Given the description of an element on the screen output the (x, y) to click on. 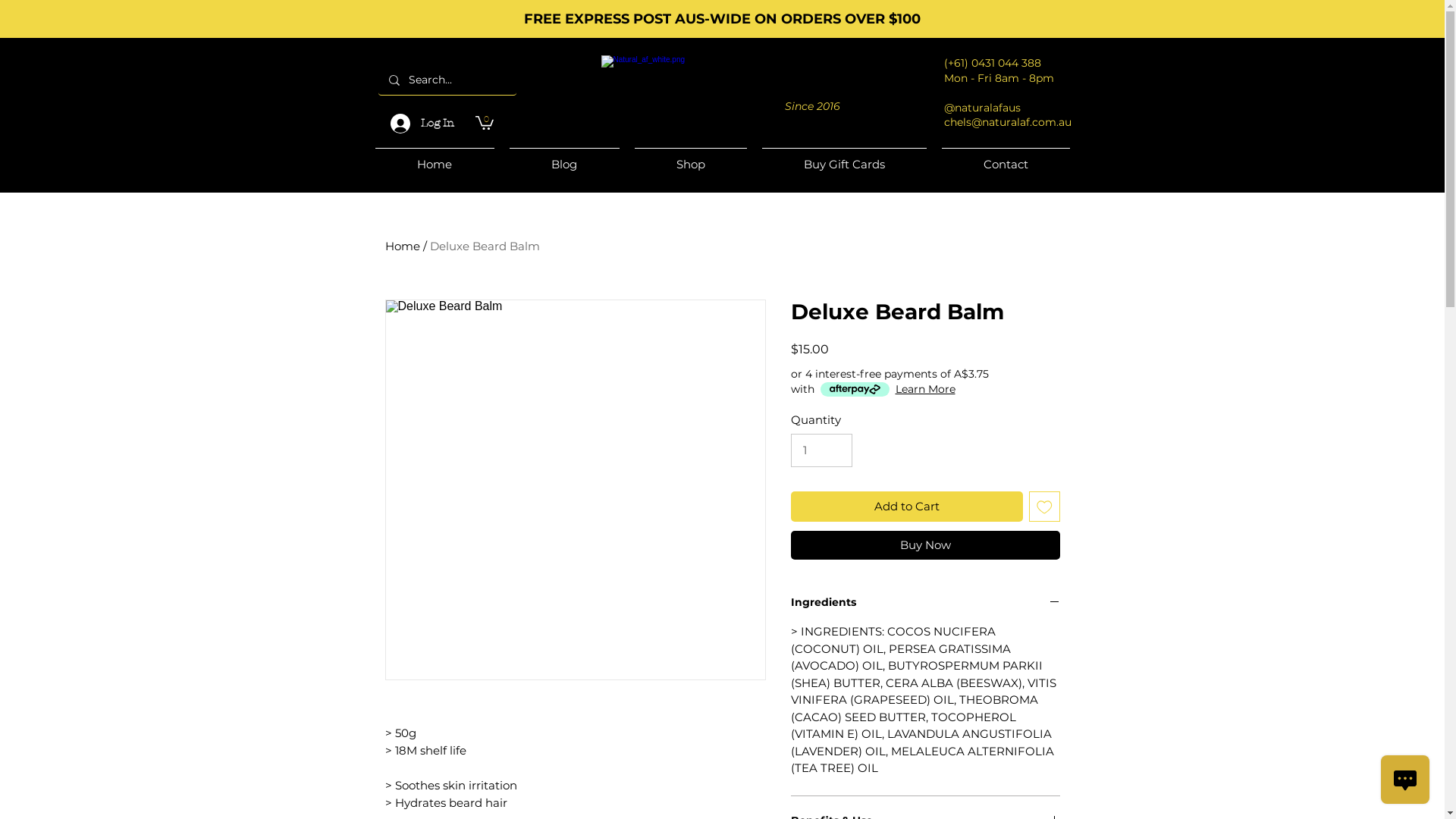
Shop Element type: text (689, 156)
Home Element type: text (434, 156)
Blog Element type: text (564, 156)
Learn More Element type: text (924, 388)
Buy Now Element type: text (924, 544)
Add to Cart Element type: text (906, 506)
0 Element type: text (483, 121)
Home Element type: text (402, 245)
Contact Element type: text (1005, 156)
Ingredients Element type: text (924, 603)
Buy Gift Cards Element type: text (843, 156)
Deluxe Beard Balm Element type: text (484, 245)
chels@naturalaf.com.au Element type: text (1006, 121)
Log In Element type: text (421, 123)
